Given the description of an element on the screen output the (x, y) to click on. 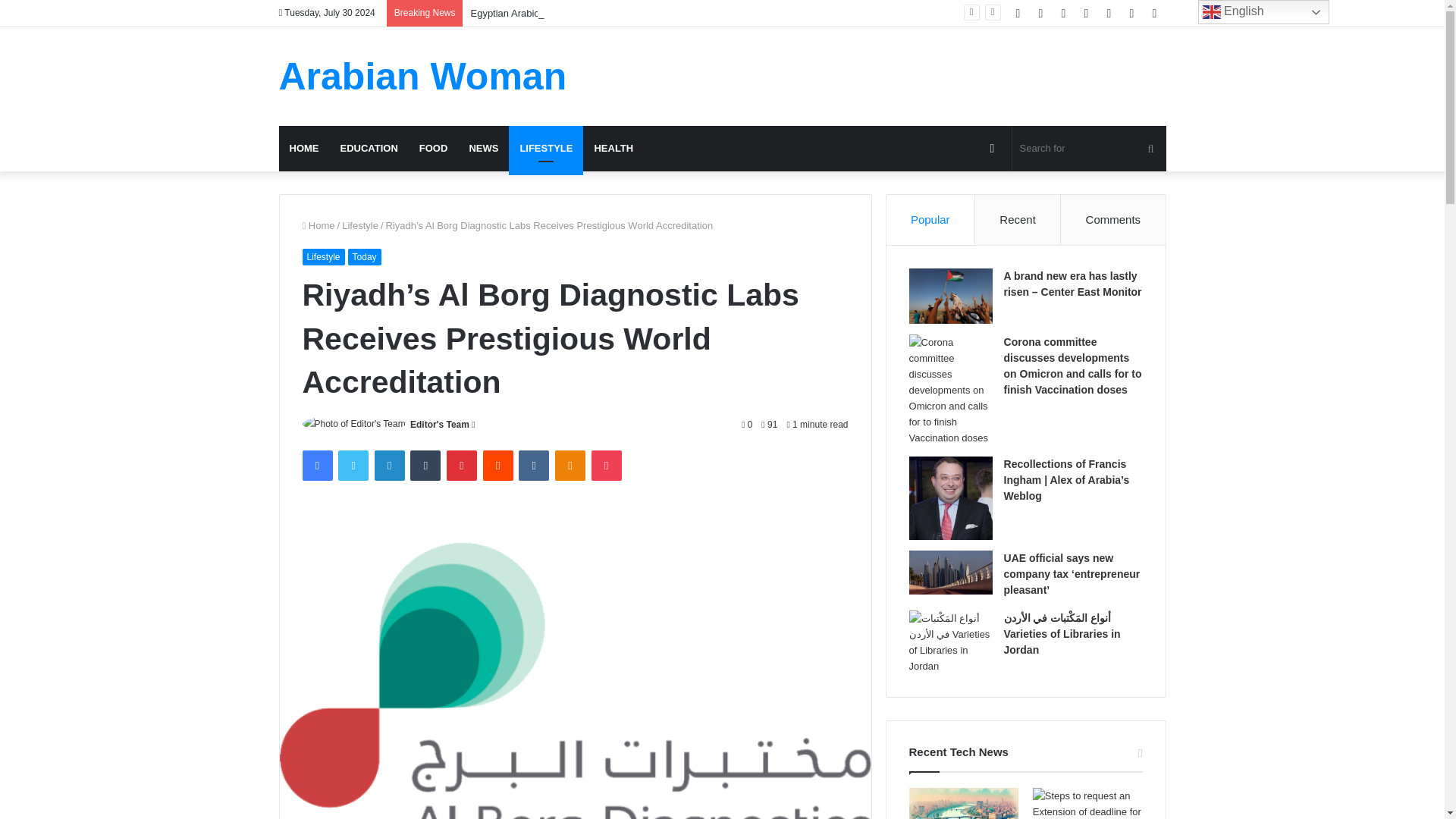
HOME (304, 148)
Pinterest (461, 465)
Tumblr (425, 465)
Lifestyle (360, 225)
Search for (1088, 148)
NEWS (483, 148)
Twitter (352, 465)
EDUCATION (368, 148)
Home (317, 225)
Arabian Woman (423, 76)
Facebook (316, 465)
Egyptian Arabic for Language Learners (556, 12)
Editor's Team (439, 424)
Pinterest (461, 465)
VKontakte (533, 465)
